Given the description of an element on the screen output the (x, y) to click on. 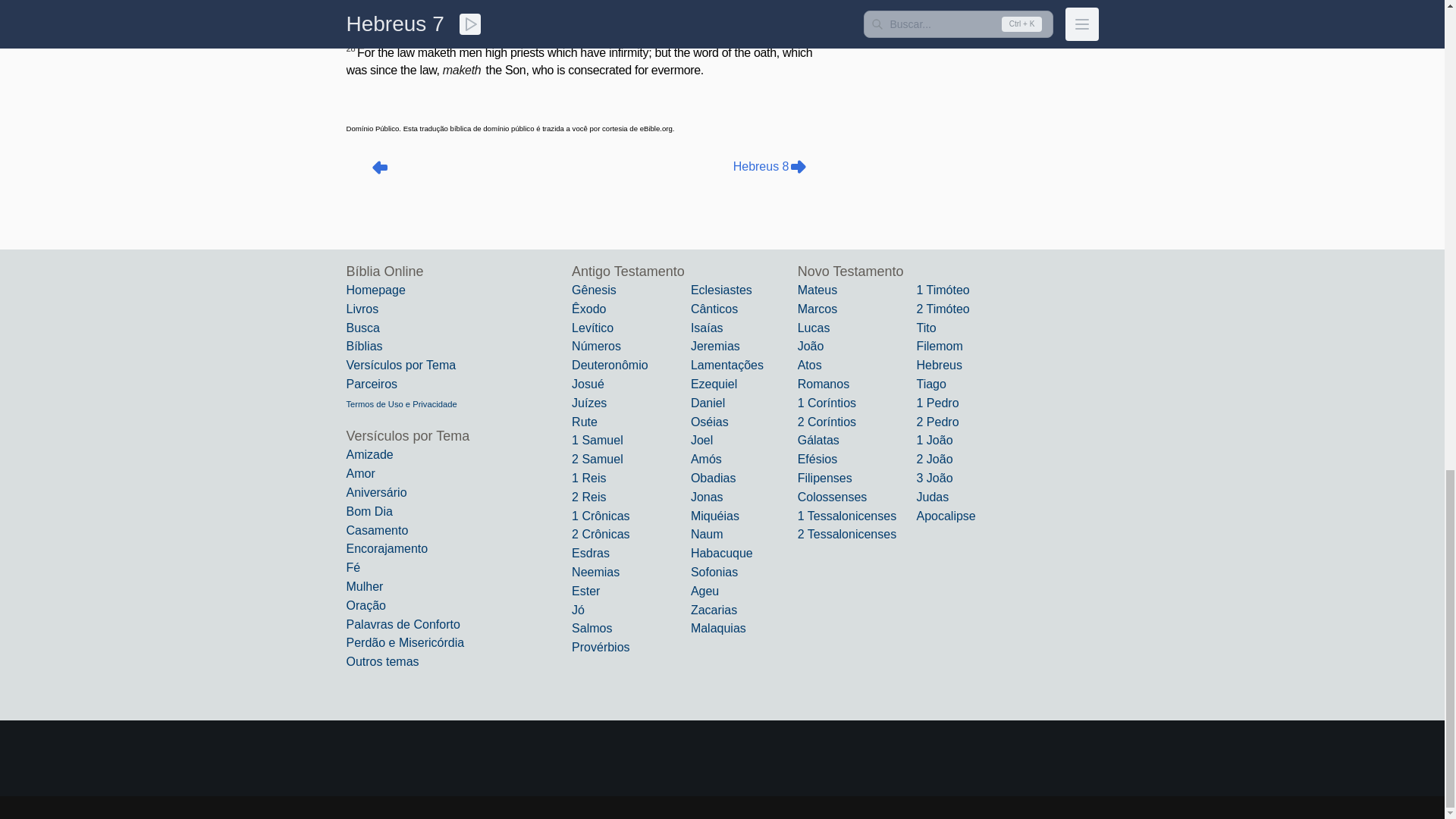
Termos de Uso e Privacidade (401, 403)
Livros (362, 308)
Hebreus 8 (770, 167)
Bom Dia (368, 511)
Parceiros (371, 383)
Homepage (375, 289)
Casamento (376, 530)
Palavras de Conforto (403, 624)
Busca (362, 327)
Amizade (369, 454)
Mulher (364, 585)
Amor (360, 472)
Encorajamento (387, 548)
